Given the description of an element on the screen output the (x, y) to click on. 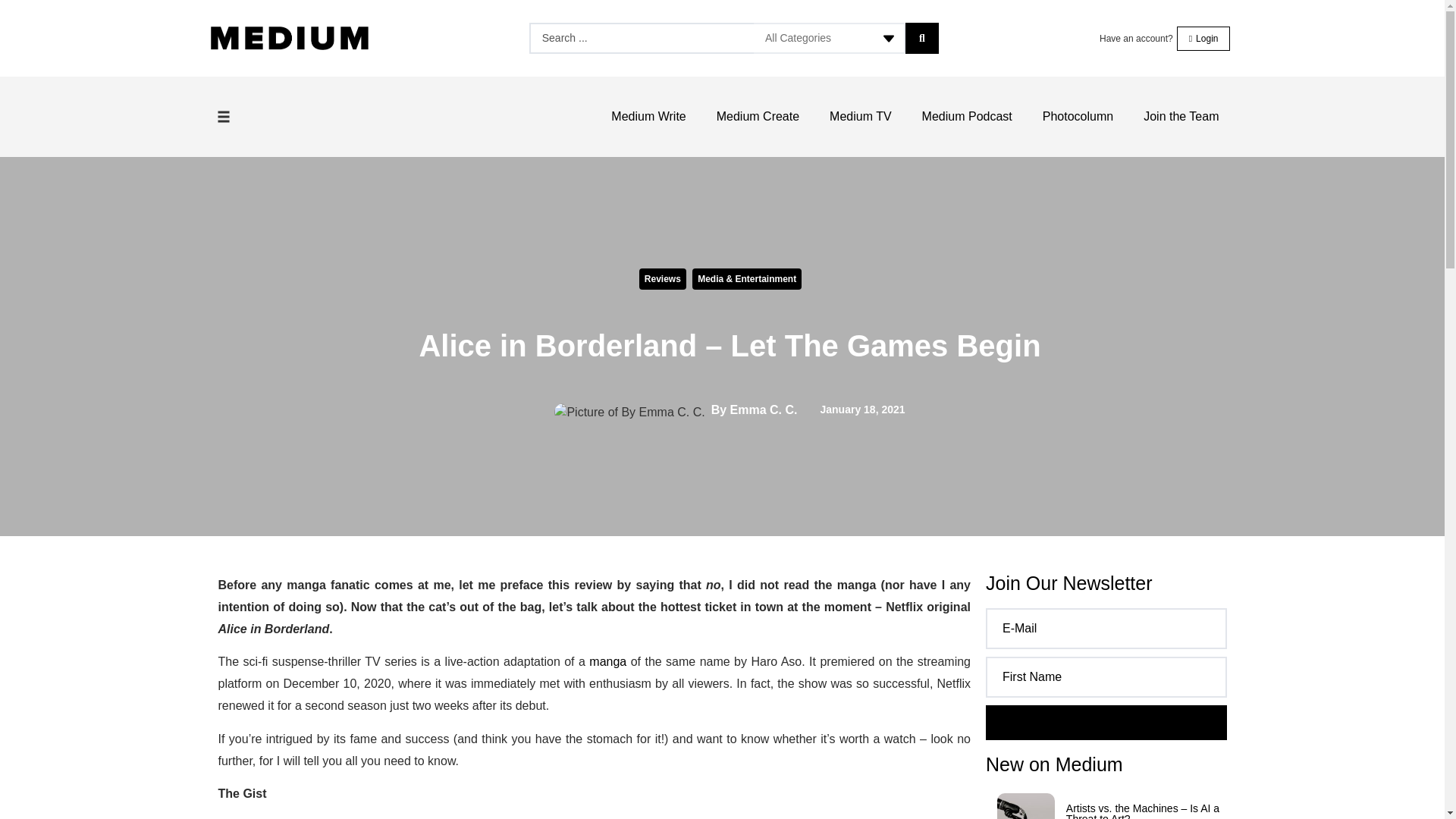
Login (1203, 37)
Medium Create (757, 116)
Join the Team (1180, 116)
Medium Podcast (967, 116)
Medium TV (860, 116)
Photocolumn (1077, 116)
Medium Write (647, 116)
